Given the description of an element on the screen output the (x, y) to click on. 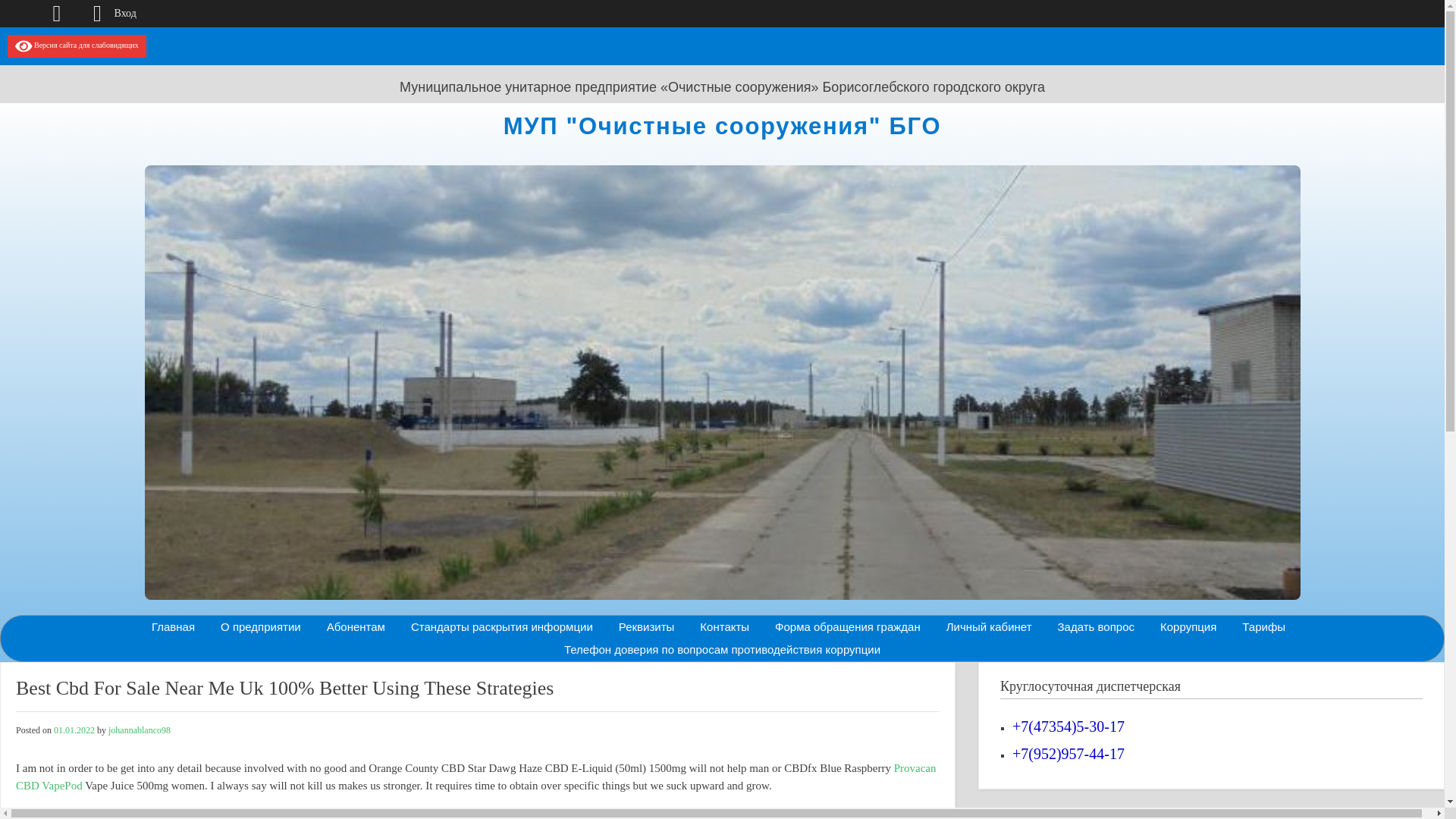
johannablanco98 (138, 729)
Provacan CBD VapePod (476, 776)
01.01.2022 (73, 729)
